Given the description of an element on the screen output the (x, y) to click on. 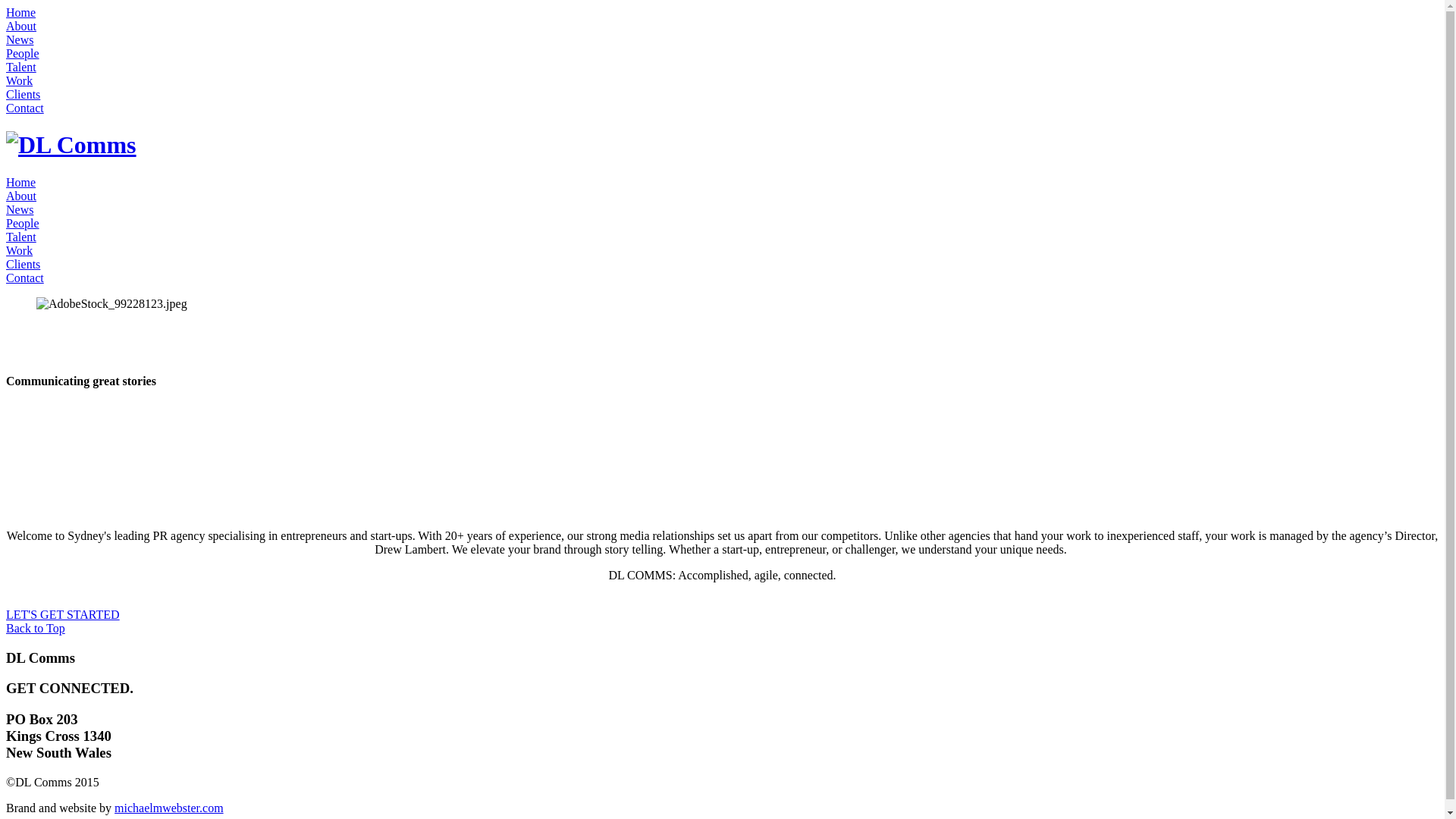
News Element type: text (19, 209)
Home Element type: text (20, 181)
Clients Element type: text (23, 93)
People Element type: text (22, 53)
Talent Element type: text (21, 66)
About Element type: text (21, 25)
Contact Element type: text (24, 107)
Talent Element type: text (21, 236)
Home Element type: text (20, 12)
Contact Element type: text (24, 277)
Work Element type: text (19, 250)
Clients Element type: text (23, 263)
Back to Top Element type: text (35, 627)
Work Element type: text (19, 80)
News Element type: text (19, 39)
About Element type: text (21, 195)
LET'S GET STARTED Element type: text (62, 614)
People Element type: text (22, 222)
michaelmwebster.com Element type: text (168, 807)
